Given the description of an element on the screen output the (x, y) to click on. 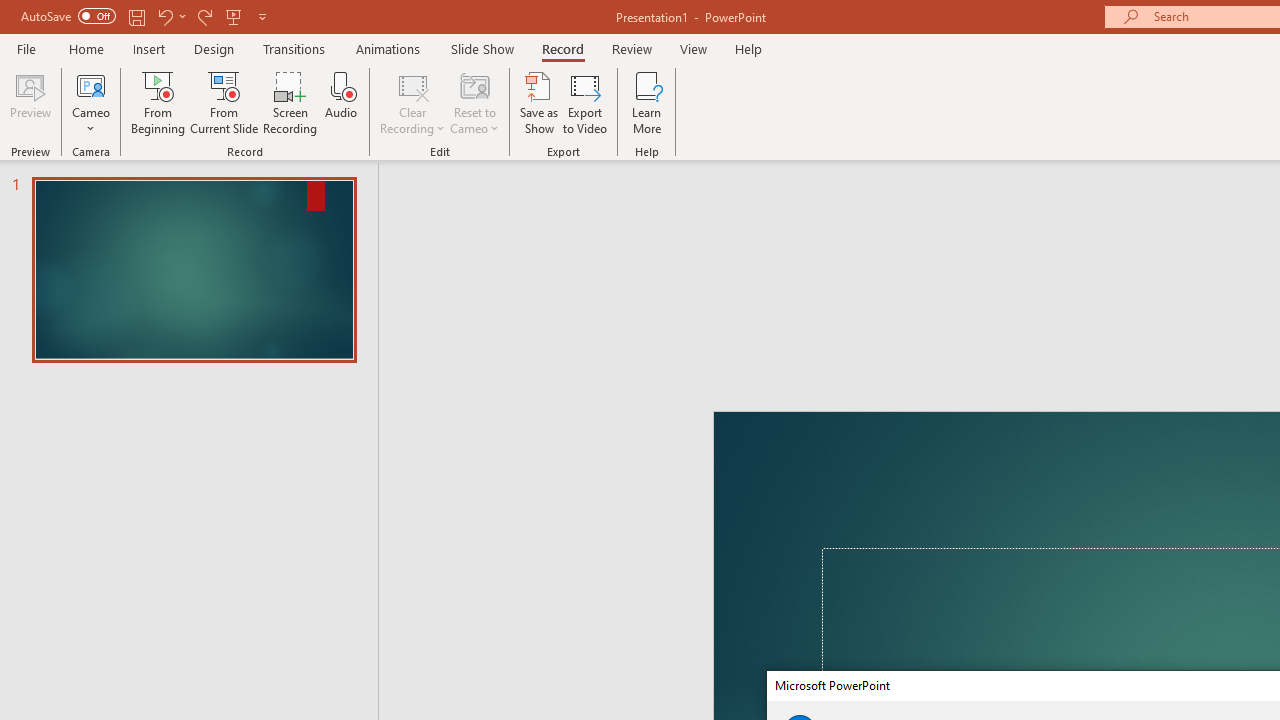
Save as Show (539, 102)
